Given the description of an element on the screen output the (x, y) to click on. 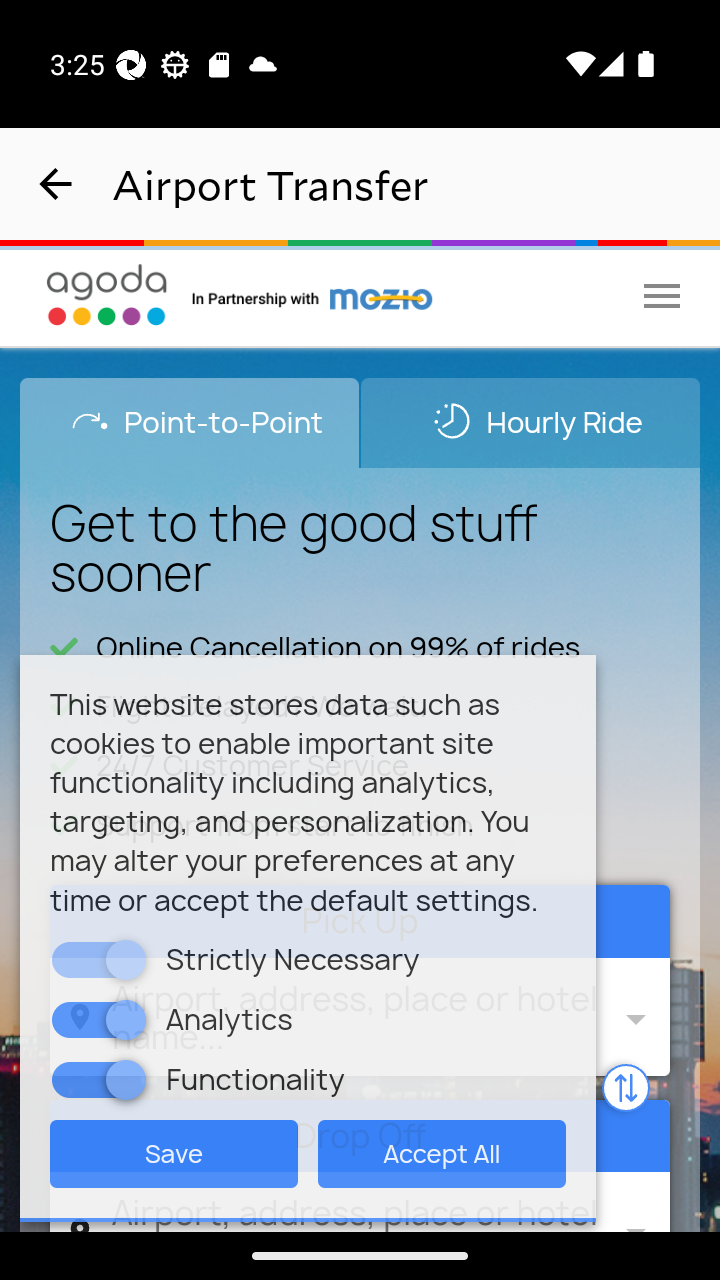
navigation_button (56, 184)
agoda.mozio (313, 295)
menu (661, 295)
Point-to-Point (190, 422)
Hourly Ride (529, 422)
Strictly Necessary (125, 959)
Analytics (125, 1018)
Functionality (125, 1078)
Save (173, 1152)
Accept All (441, 1152)
